Given the description of an element on the screen output the (x, y) to click on. 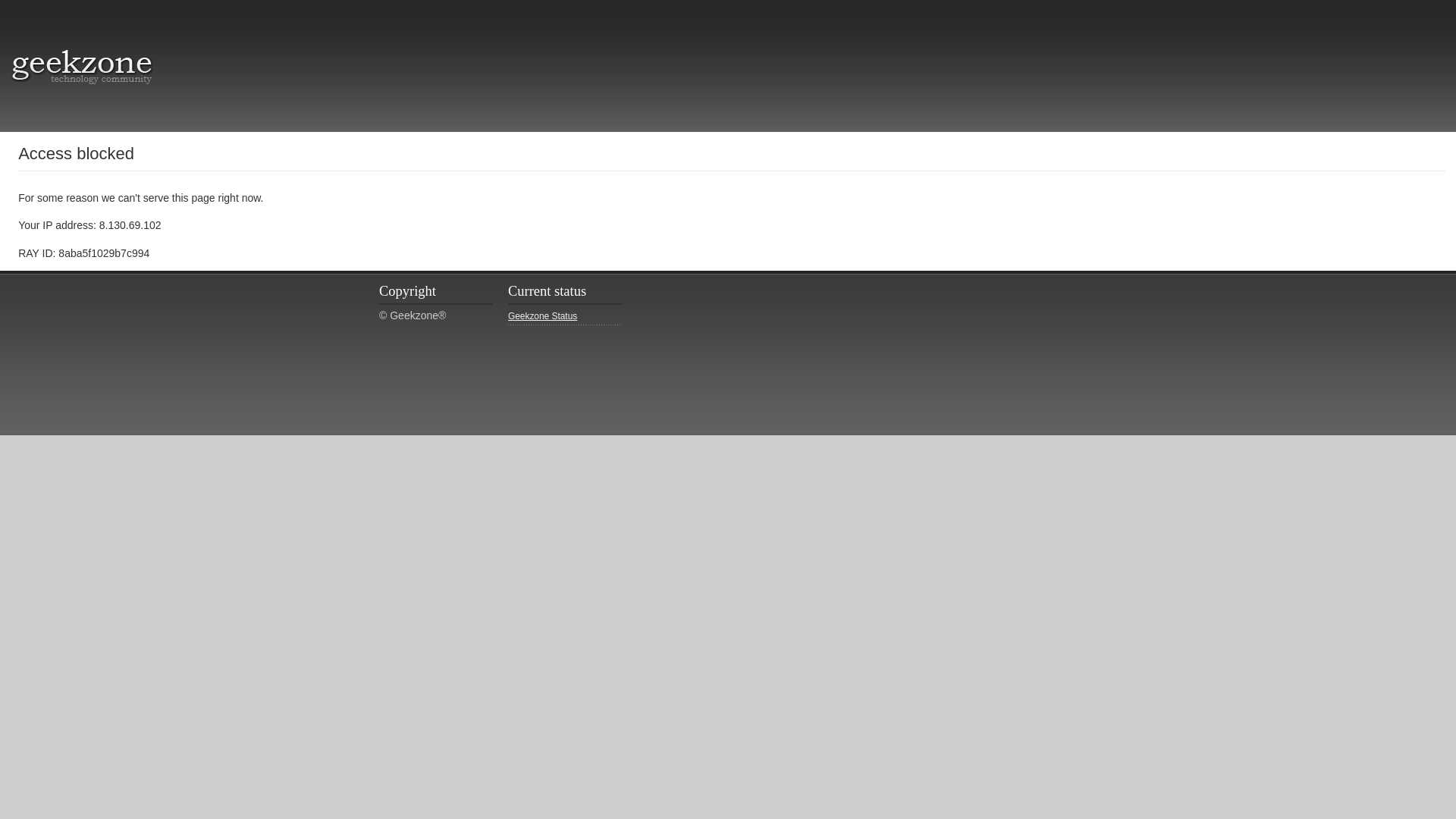
Geekzone Status (564, 316)
